Given the description of an element on the screen output the (x, y) to click on. 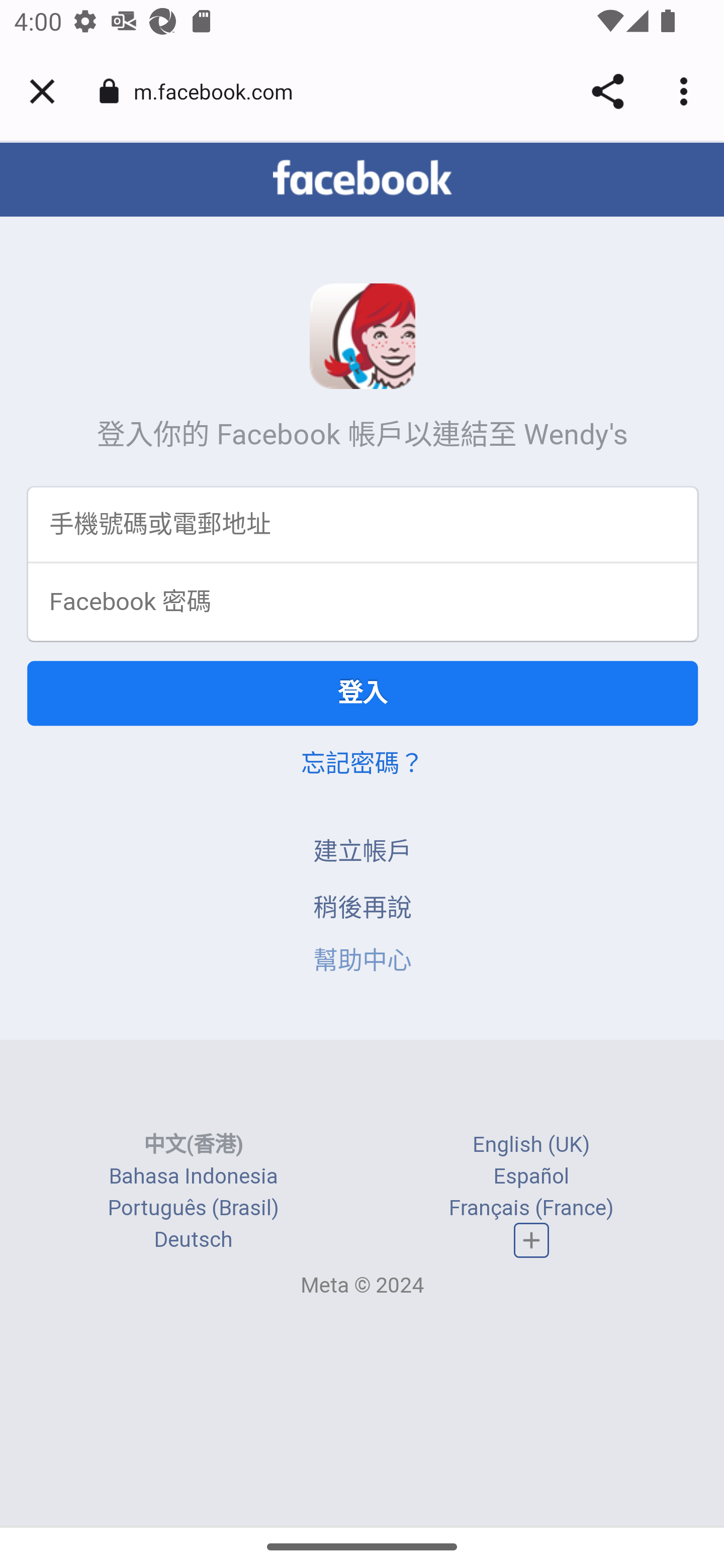
Close tab (42, 91)
Share (607, 91)
More options (687, 91)
Connection is secure (108, 91)
m.facebook.com (219, 90)
facebook (361, 179)
登入 (363, 694)
忘記密碼？ (362, 764)
建立帳戶 (363, 852)
稍後再說 (363, 909)
幫助中心 (363, 962)
English (UK) (531, 1145)
Bahasa Indonesia (193, 1177)
Español (531, 1177)
Português (Brasil) (193, 1208)
Français (France) (530, 1208)
完整的語言清單 (531, 1241)
Deutsch (192, 1240)
